Given the description of an element on the screen output the (x, y) to click on. 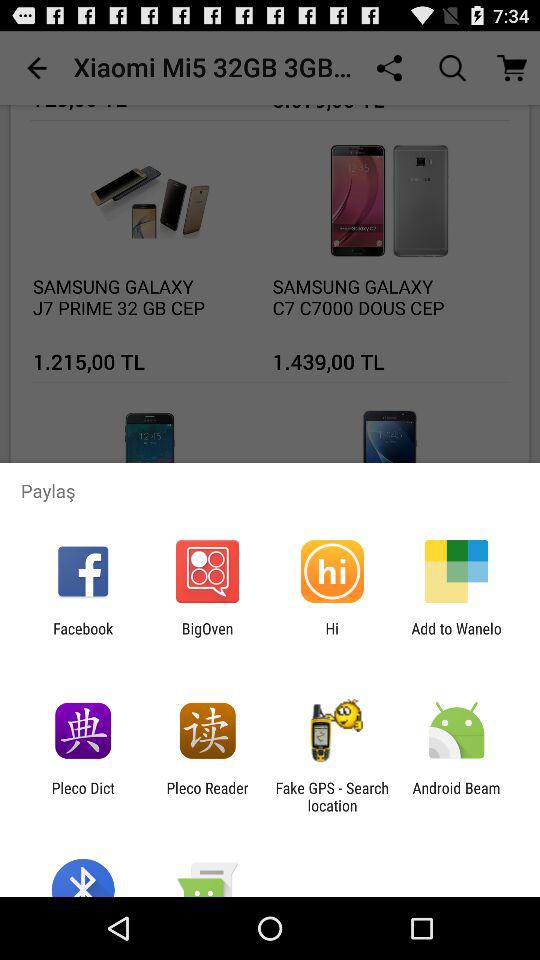
press bigoven (207, 637)
